Given the description of an element on the screen output the (x, y) to click on. 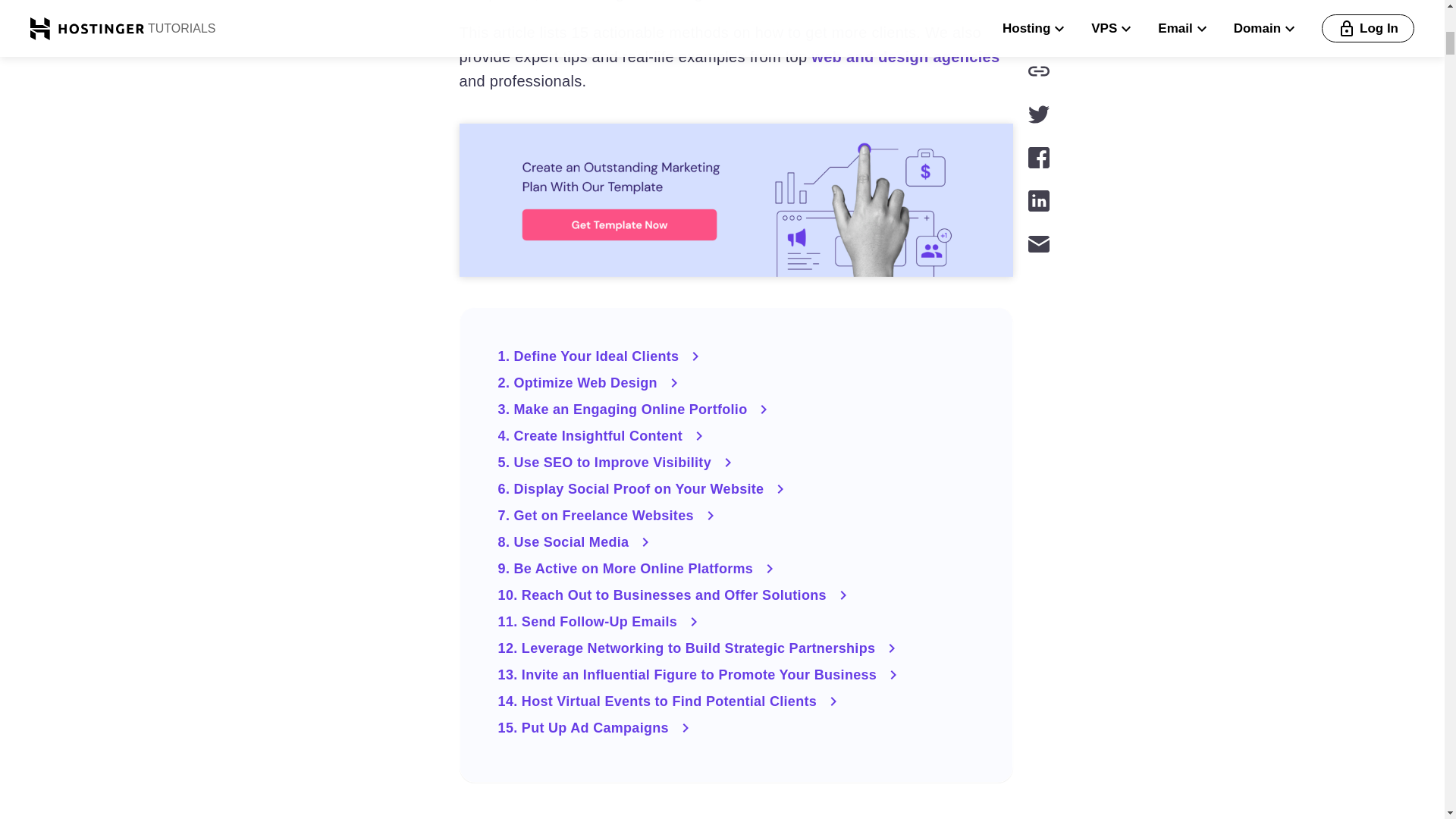
4. Create Insightful Content (735, 435)
7. Get on Freelance Websites (735, 515)
10. Reach Out to Businesses and Offer Solutions (735, 595)
13. Invite an Influential Figure to Promote Your Business (735, 674)
14. Host Virtual Events to Find Potential Clients (735, 701)
5. Use SEO to Improve Visibility (735, 462)
5. Use SEO to Improve Visibility (735, 462)
9. Be Active on More Online Platforms (735, 568)
web and design agencies (904, 56)
6. Display Social Proof on Your Website (735, 488)
